Given the description of an element on the screen output the (x, y) to click on. 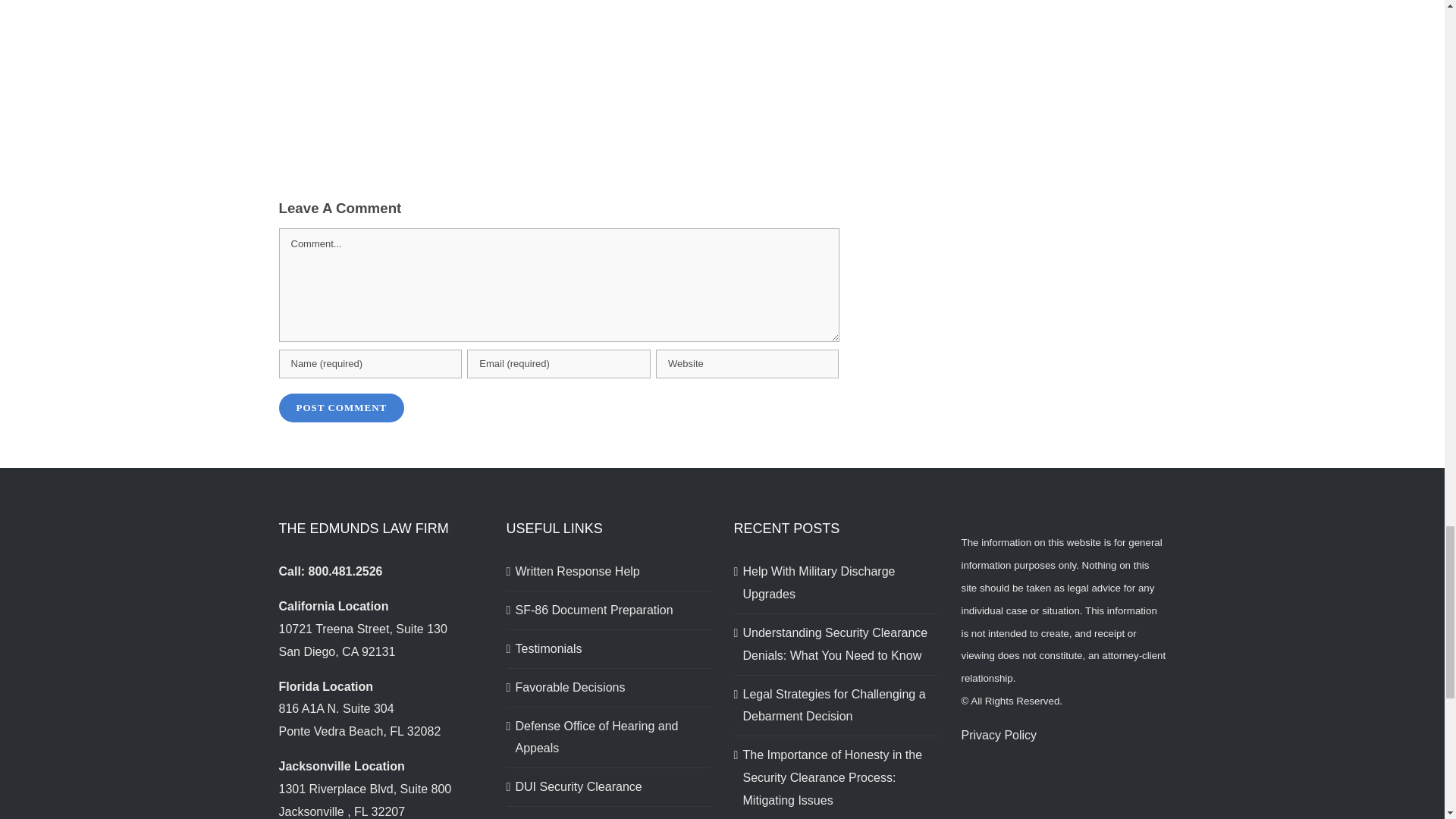
Post Comment (341, 407)
